Given the description of an element on the screen output the (x, y) to click on. 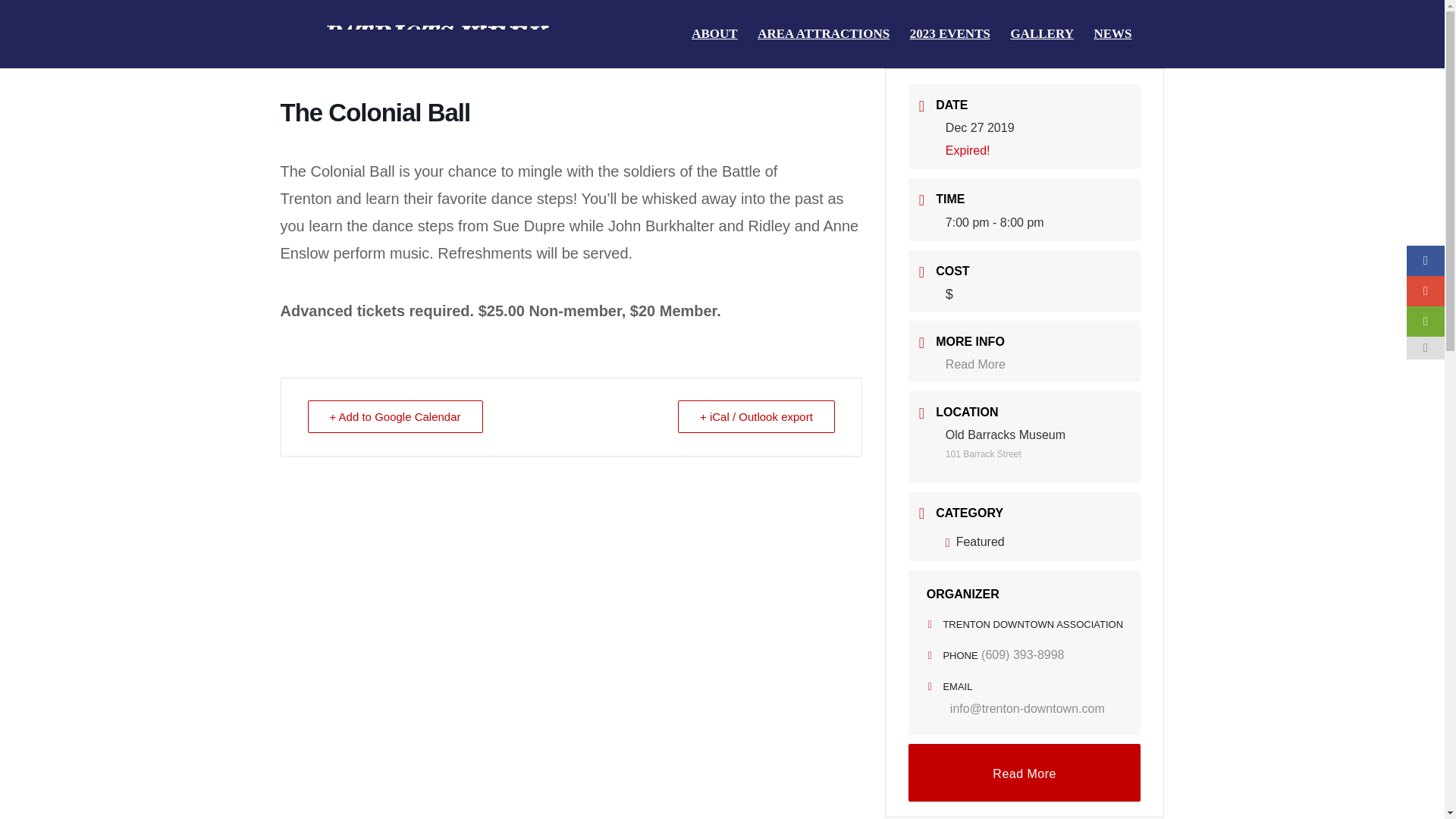
NEWS (1112, 47)
Read More (975, 364)
GALLERY (1041, 47)
Read More (1024, 772)
ABOUT (713, 47)
Featured (974, 541)
AREA ATTRACTIONS (823, 47)
2023 EVENTS (950, 47)
